Given the description of an element on the screen output the (x, y) to click on. 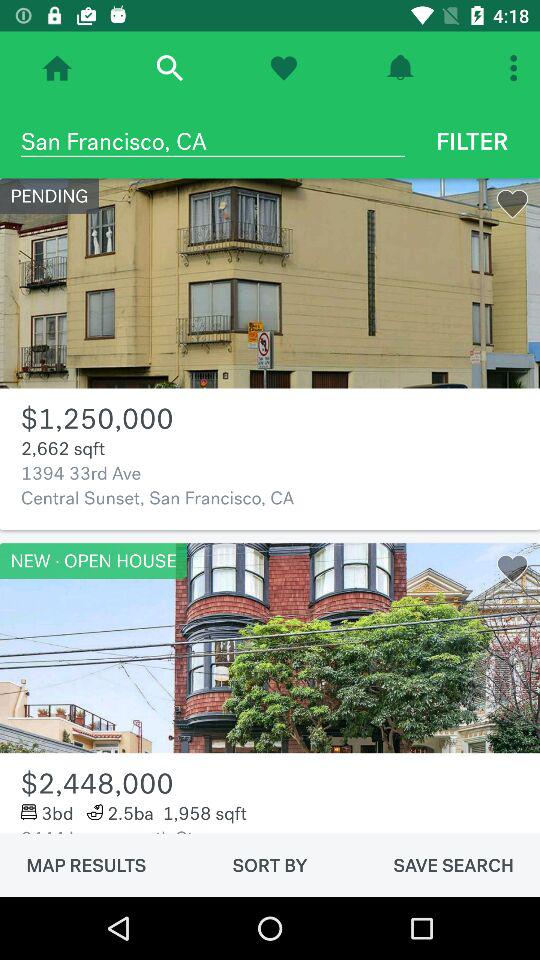
tap the item to the right of san francisco, ca (472, 141)
